Given the description of an element on the screen output the (x, y) to click on. 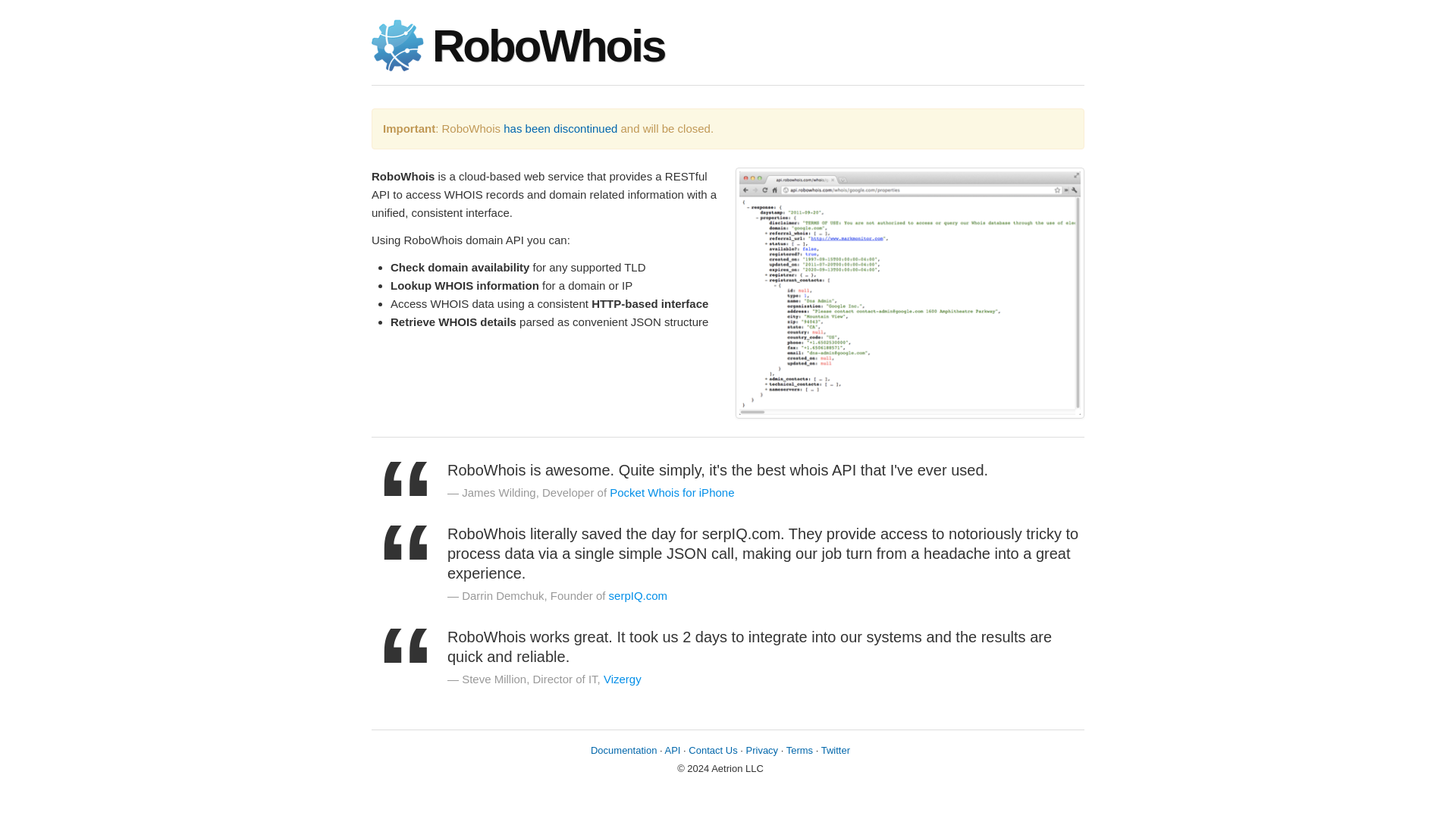
API (673, 749)
Documentation (623, 749)
Vizergy (623, 678)
serpIQ.com (638, 594)
has been discontinued (560, 128)
Twitter (835, 749)
RoboWhois (575, 45)
Privacy (761, 749)
Contact Us (712, 749)
Documentation (623, 749)
Pocket Whois for iPhone (671, 492)
Terms of Service (799, 749)
Privacy Policy (761, 749)
Terms (799, 749)
